Given the description of an element on the screen output the (x, y) to click on. 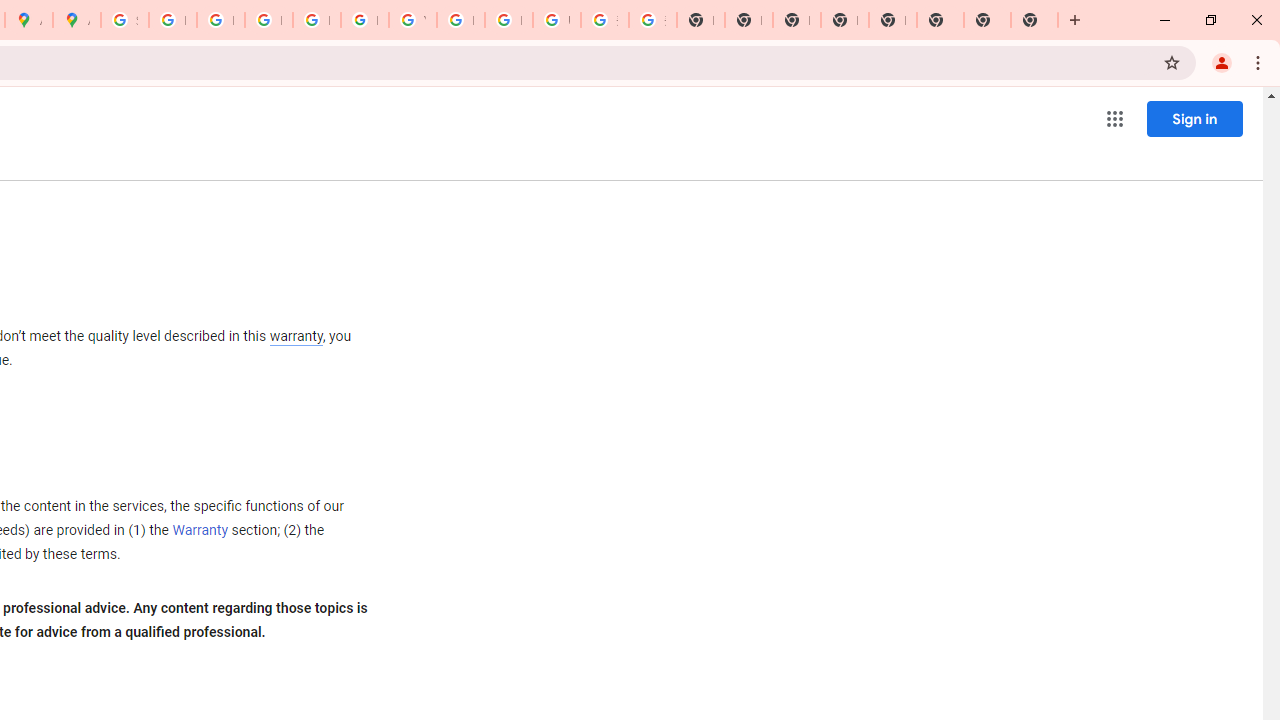
New Tab (1034, 20)
New Tab (892, 20)
YouTube (412, 20)
Privacy Help Center - Policies Help (268, 20)
New Tab (987, 20)
Privacy Help Center - Policies Help (220, 20)
